Given the description of an element on the screen output the (x, y) to click on. 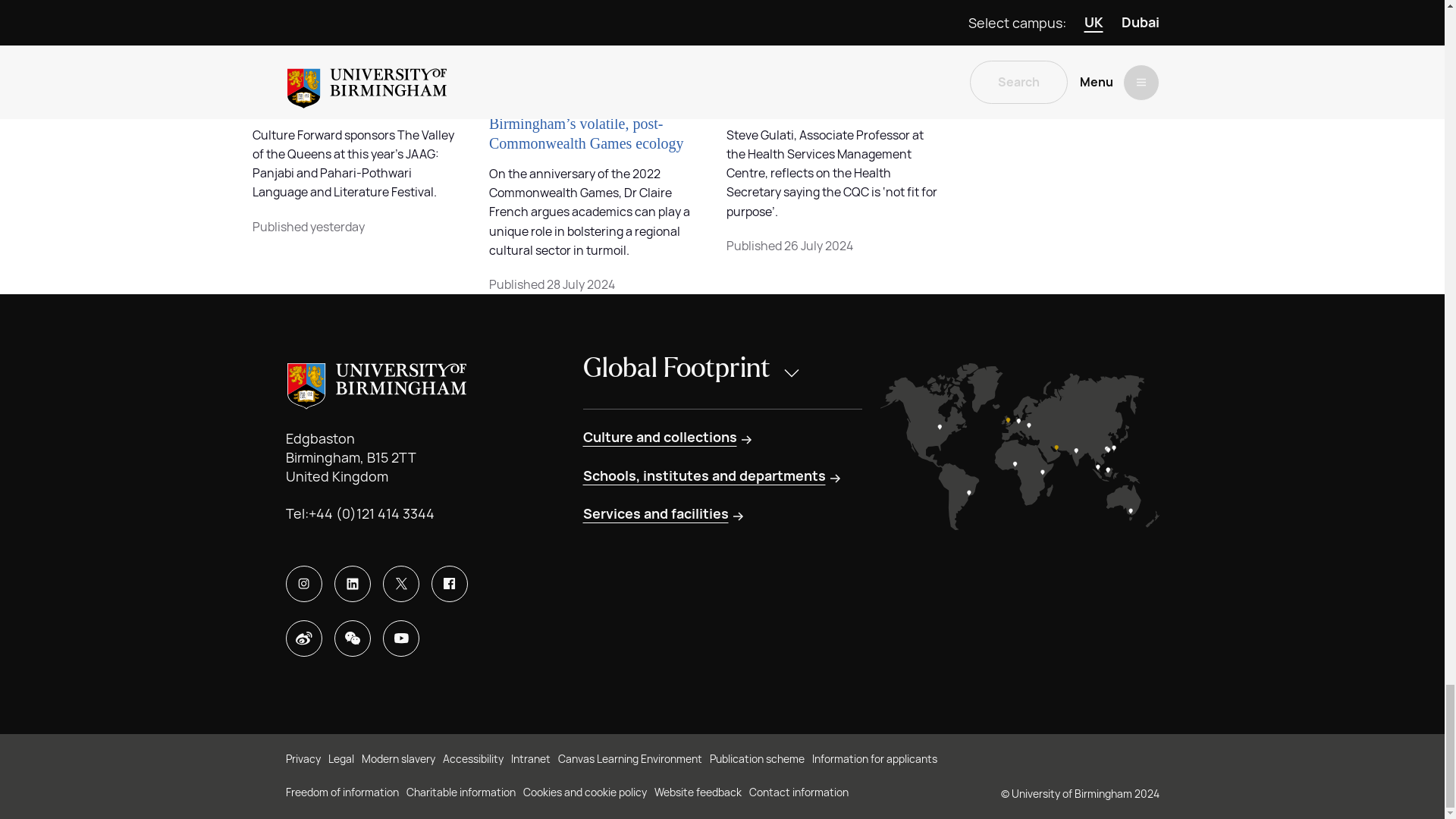
Legal (340, 760)
Services and facilities (663, 514)
Privacy (302, 760)
Schools, institutes and departments (712, 476)
Accessibility (472, 760)
Culture and collections (668, 437)
Intranet (530, 760)
Modern slavery (397, 760)
